Given the description of an element on the screen output the (x, y) to click on. 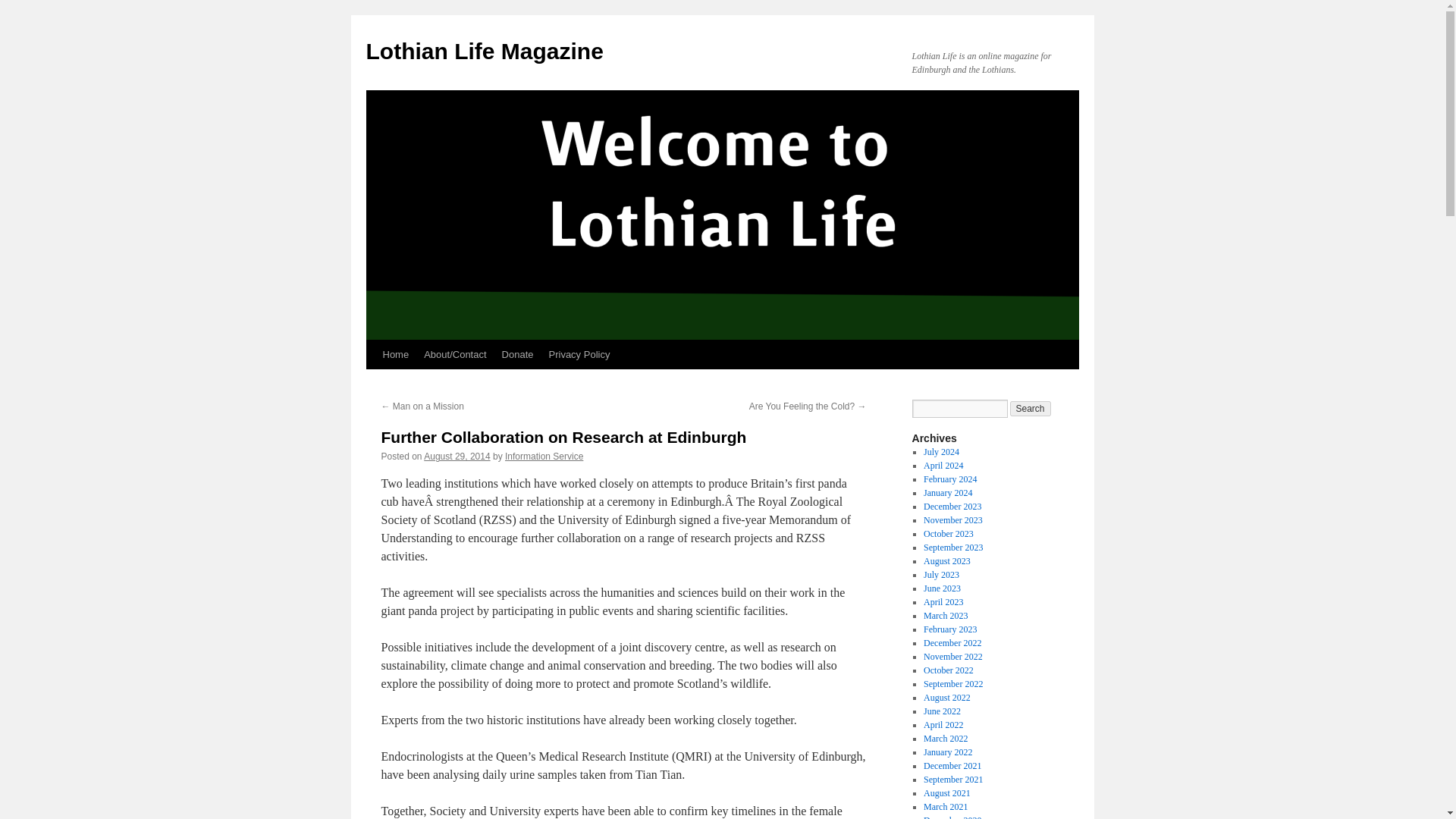
December 2022 (952, 643)
Lothian Life Magazine (483, 50)
June 2023 (941, 588)
December 2023 (952, 506)
9:30 am (456, 456)
February 2023 (949, 629)
June 2022 (941, 710)
August 29, 2014 (456, 456)
Home (395, 354)
April 2023 (942, 602)
Donate (518, 354)
July 2023 (941, 574)
September 2022 (952, 683)
Search (1030, 408)
April 2022 (942, 724)
